Given the description of an element on the screen output the (x, y) to click on. 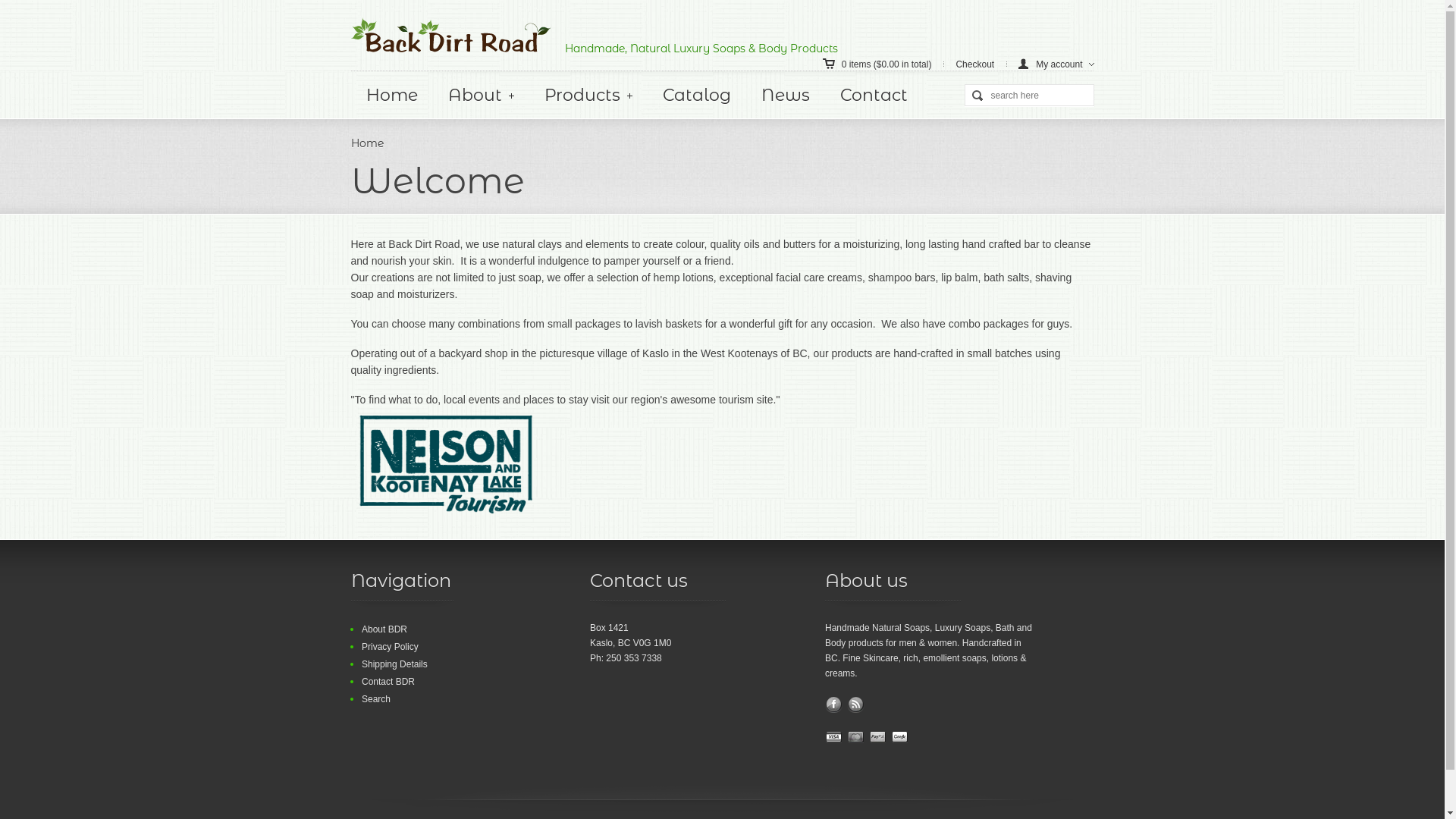
0 items ($0.00 in total) Element type: text (889, 64)
News Element type: text (785, 95)
About BDR Element type: text (383, 629)
About Element type: text (480, 95)
Checkout Element type: text (986, 64)
Search Element type: text (374, 698)
My account Element type: text (1055, 64)
Home Element type: text (366, 143)
Home Element type: text (391, 95)
Products Element type: text (588, 95)
Shipping Details Element type: text (393, 663)
Catalog Element type: text (696, 95)
Contact BDR Element type: text (387, 681)
Contact Element type: text (873, 95)
Privacy Policy Element type: text (388, 646)
